Given the description of an element on the screen output the (x, y) to click on. 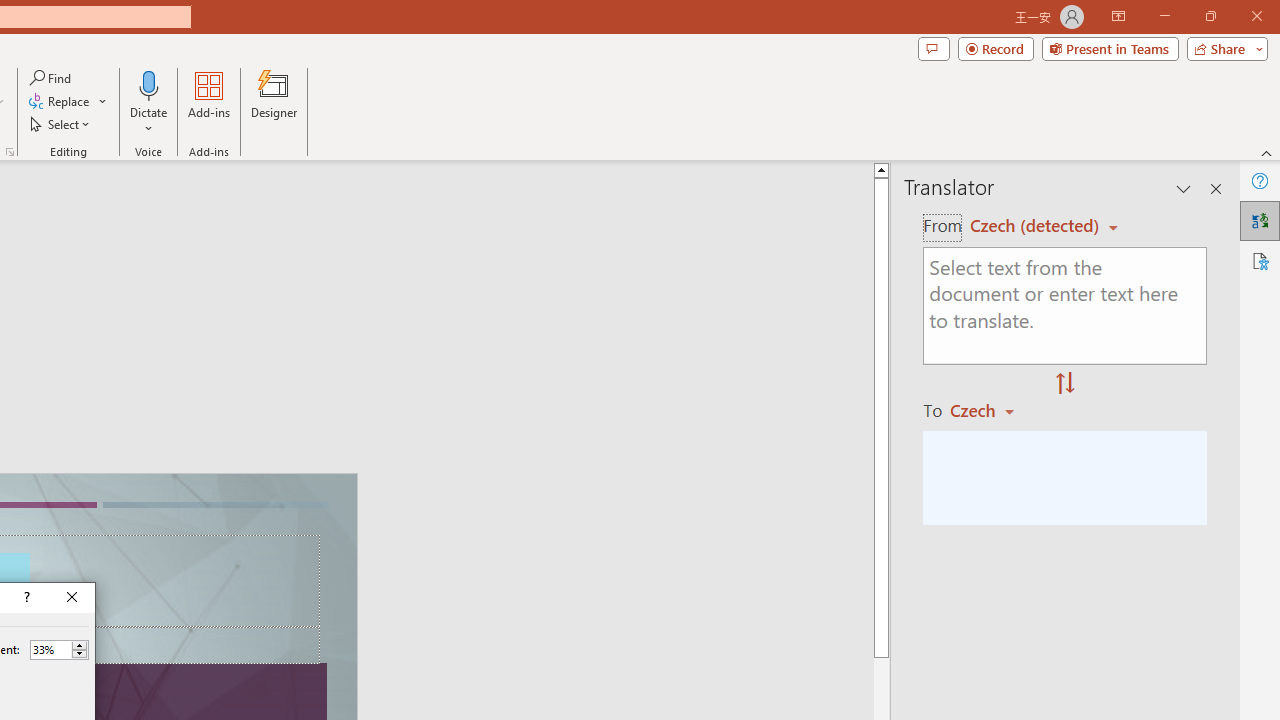
Select (61, 124)
Find... (51, 78)
